Given the description of an element on the screen output the (x, y) to click on. 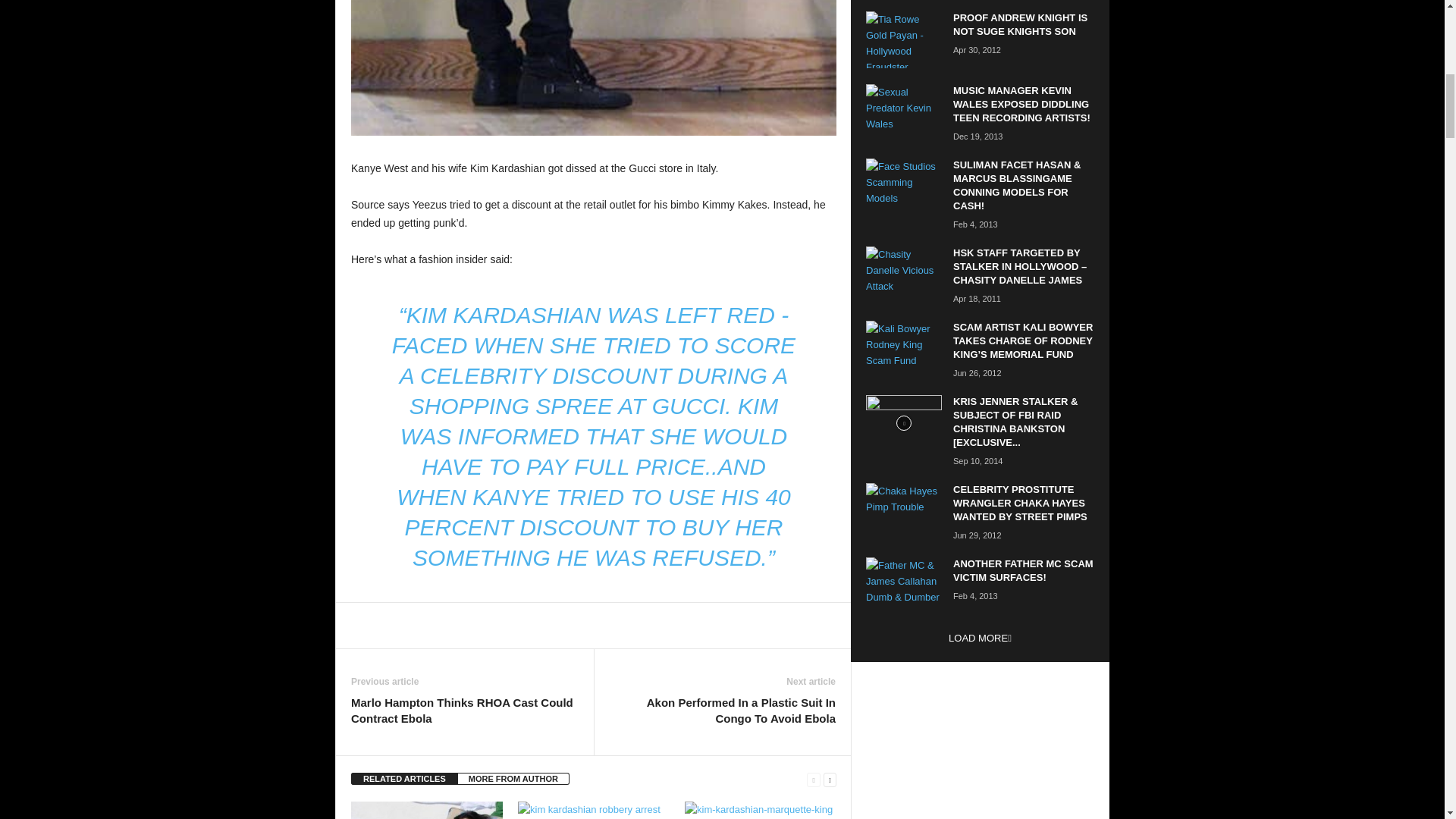
MORE FROM AUTHOR (513, 778)
Marlo Hampton Thinks RHOA Cast Could Contract Ebola (464, 710)
RELATED ARTICLES (404, 778)
Akon Performed In a Plastic Suit In Congo To Avoid Ebola (721, 710)
